Given the description of an element on the screen output the (x, y) to click on. 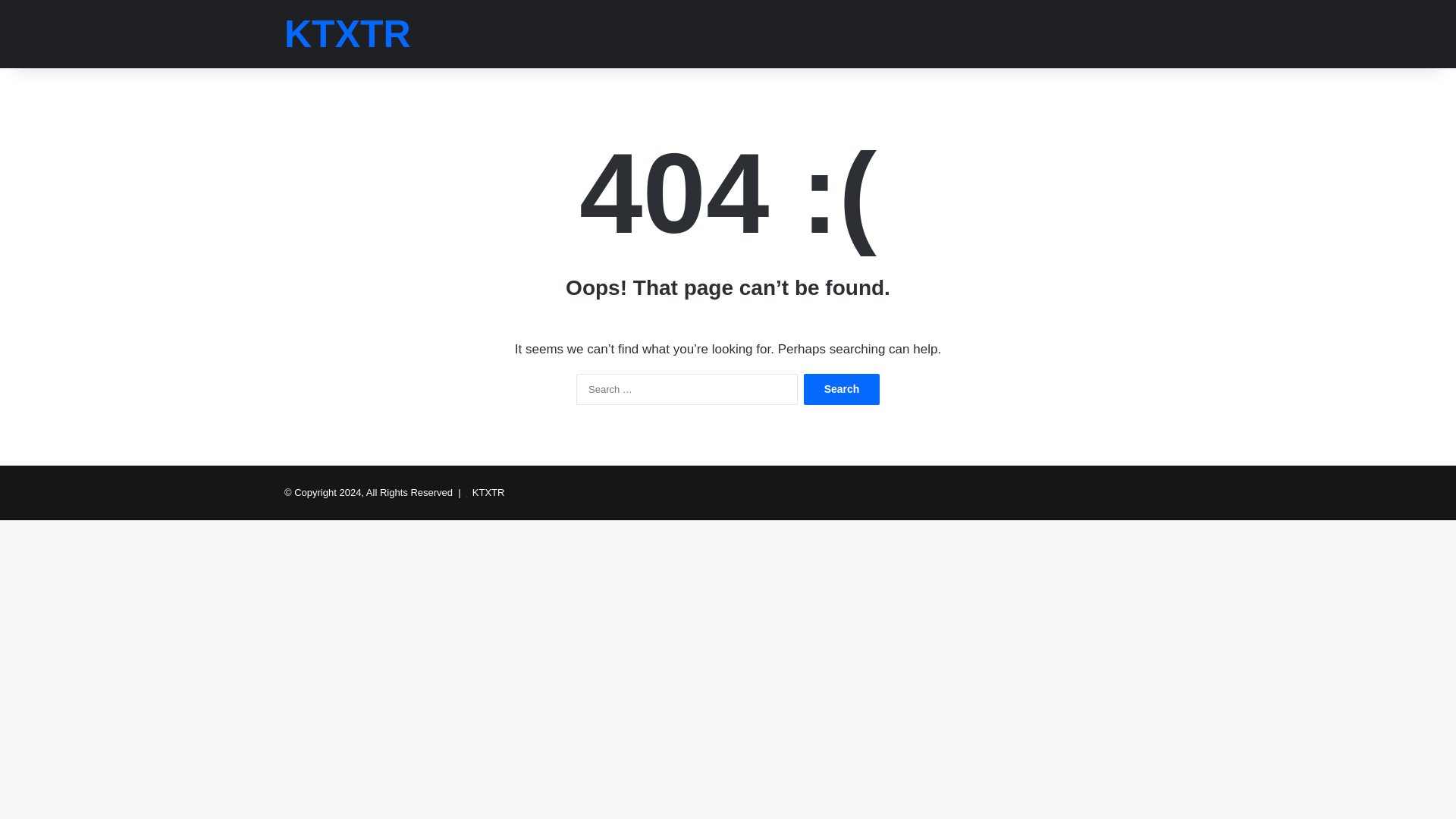
Search (841, 388)
KTXTR (346, 34)
Search (841, 388)
KTXTR (488, 491)
Search (841, 388)
KTXTR (346, 34)
